Given the description of an element on the screen output the (x, y) to click on. 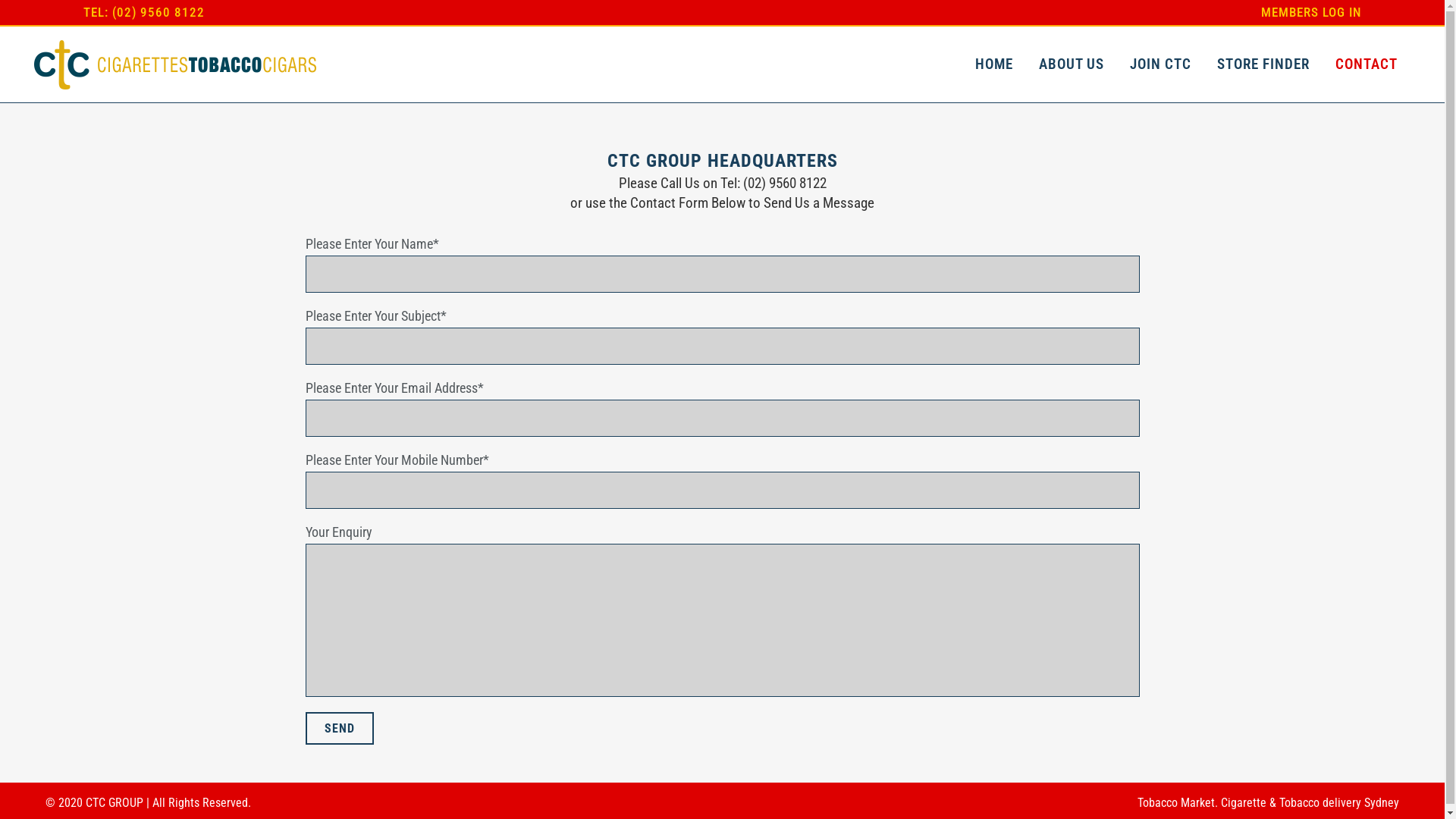
JOIN CTC Element type: text (1160, 64)
MEMBERS LOG IN Element type: text (1305, 12)
HOME Element type: text (994, 64)
ABOUT US Element type: text (1071, 64)
CONTACT Element type: text (1366, 64)
STORE FINDER Element type: text (1263, 64)
Send Element type: text (338, 728)
Tobacco Market. Cigarette & Tobacco delivery Sydney Element type: text (1268, 802)
